Given the description of an element on the screen output the (x, y) to click on. 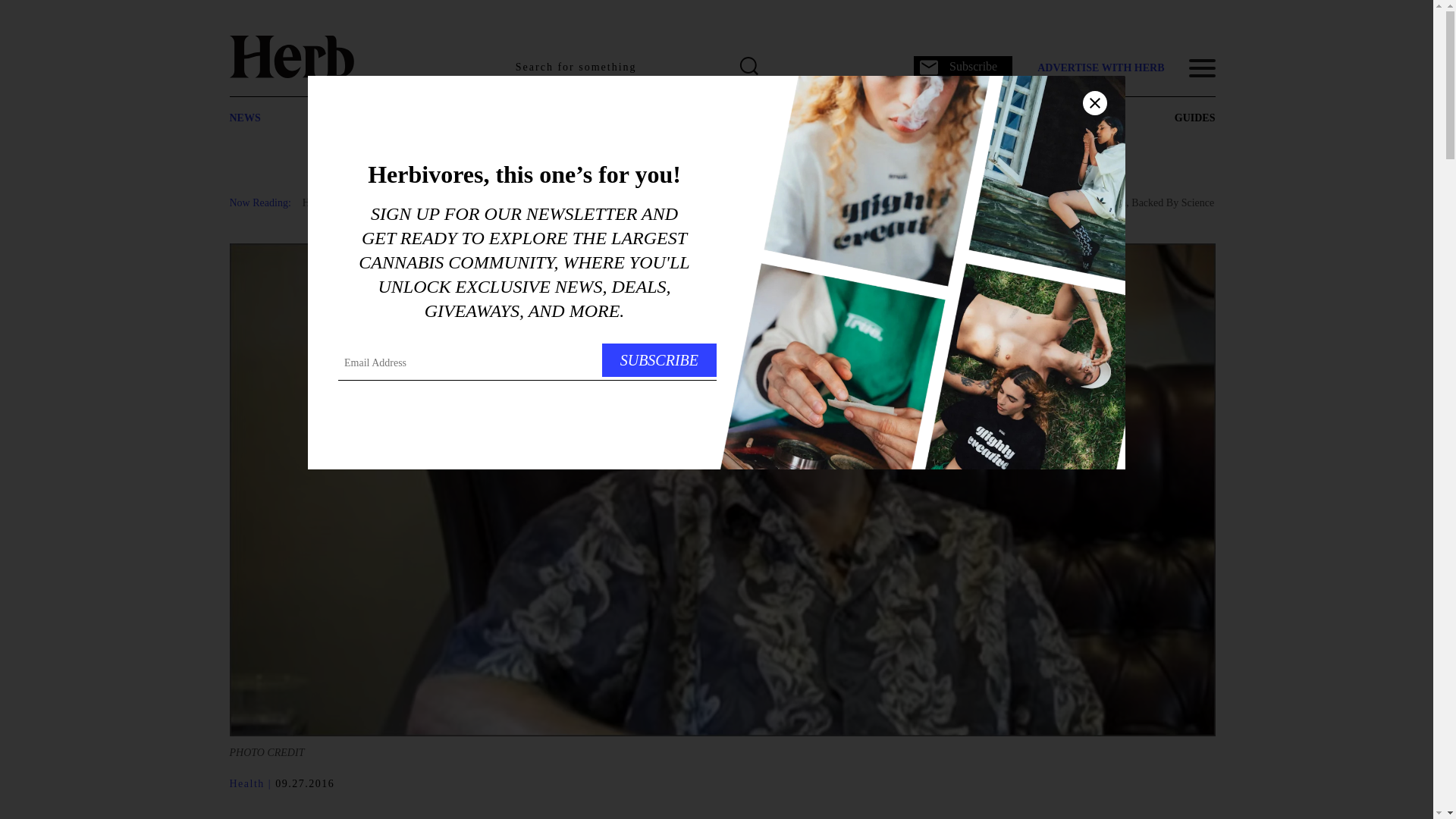
ADVERTISE WITH HERB (1099, 68)
Subscribe (962, 67)
